Given the description of an element on the screen output the (x, y) to click on. 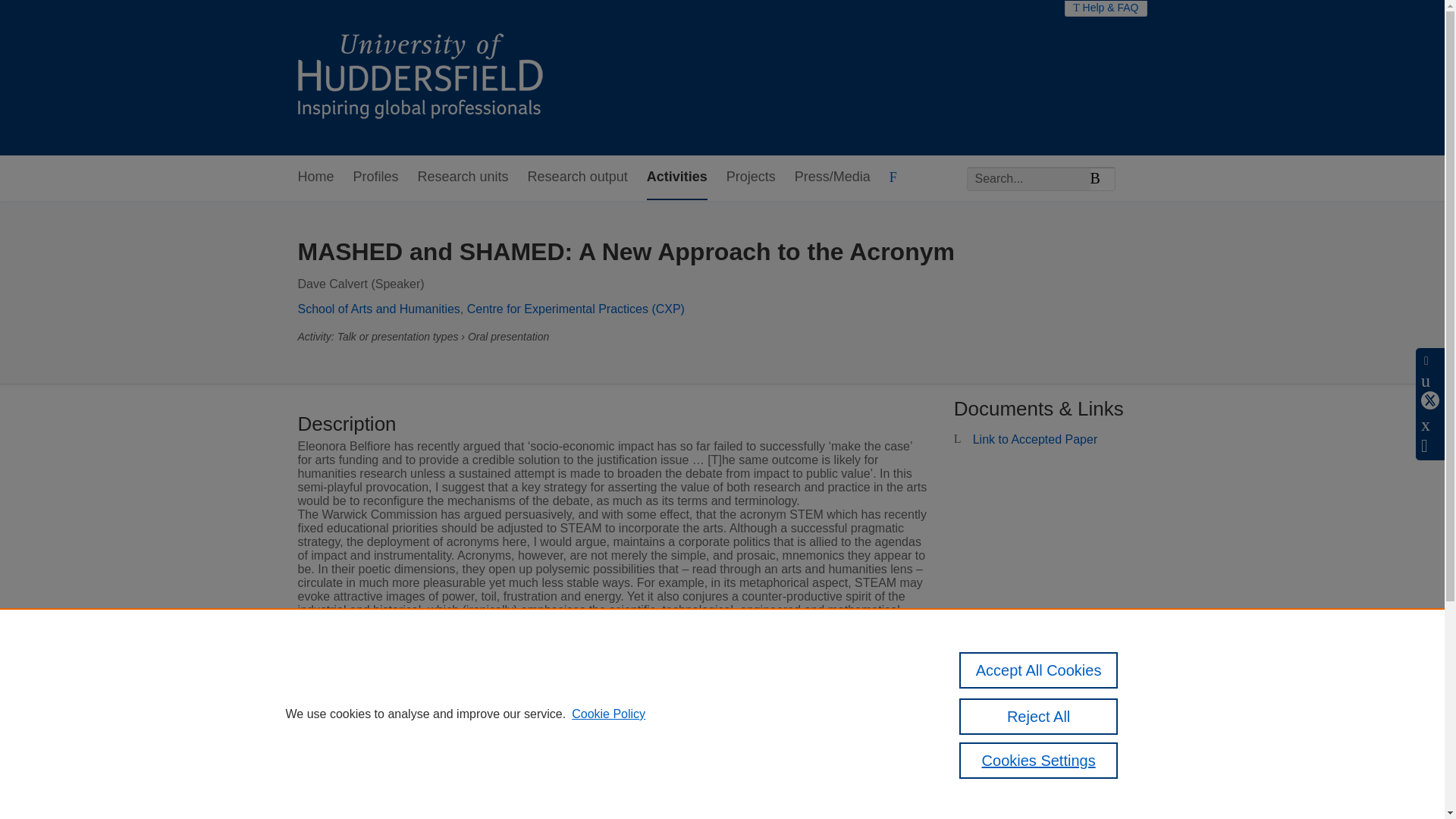
Reject All (1038, 716)
Research output (577, 177)
Projects (751, 177)
School of Arts and Humanities (378, 308)
Show on map (676, 721)
Accept All Cookies (1038, 669)
Cookie Policy (608, 713)
Cookies Settings (1038, 760)
Activities (676, 177)
